Given the description of an element on the screen output the (x, y) to click on. 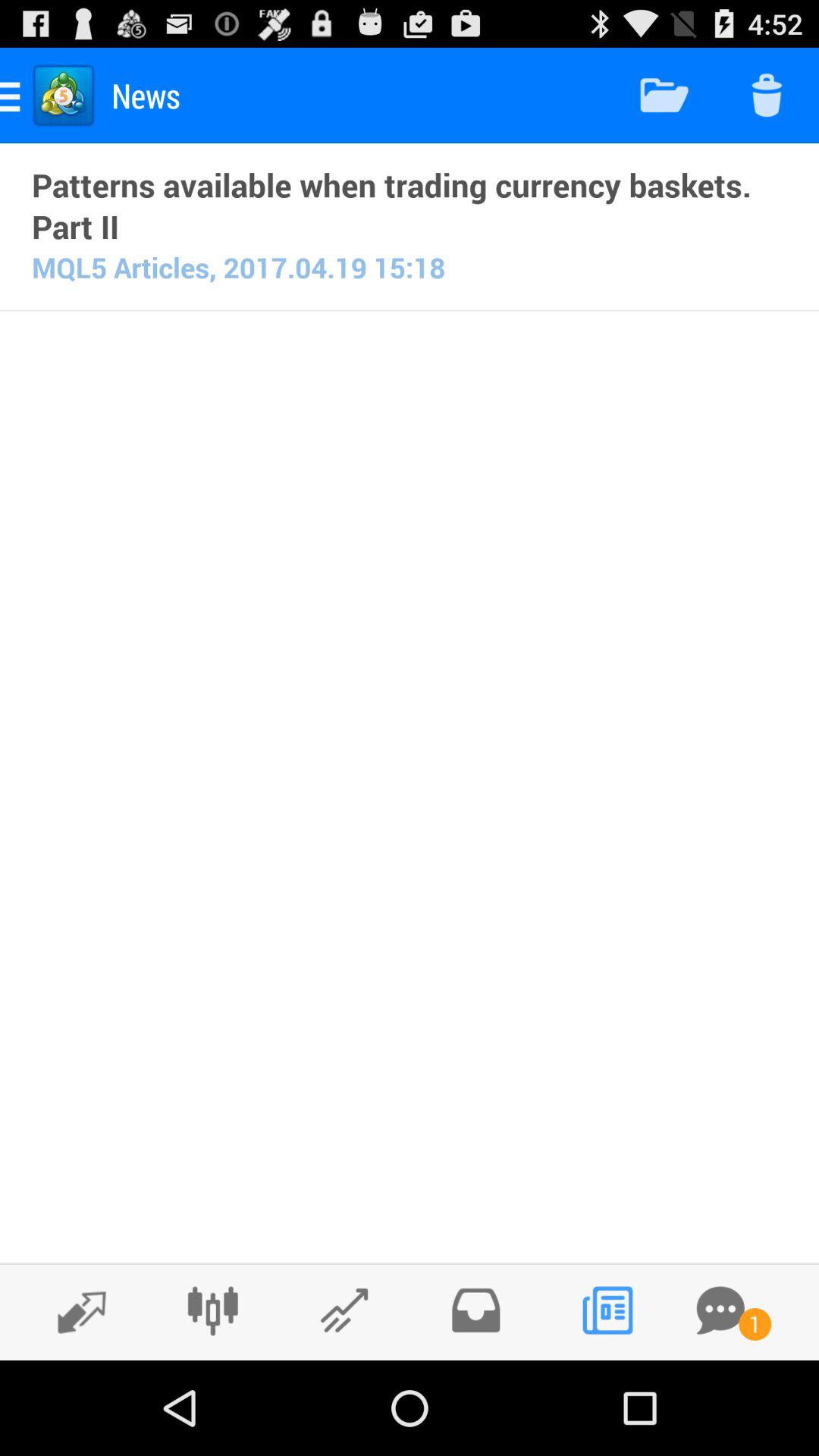
view category (344, 1310)
